Given the description of an element on the screen output the (x, y) to click on. 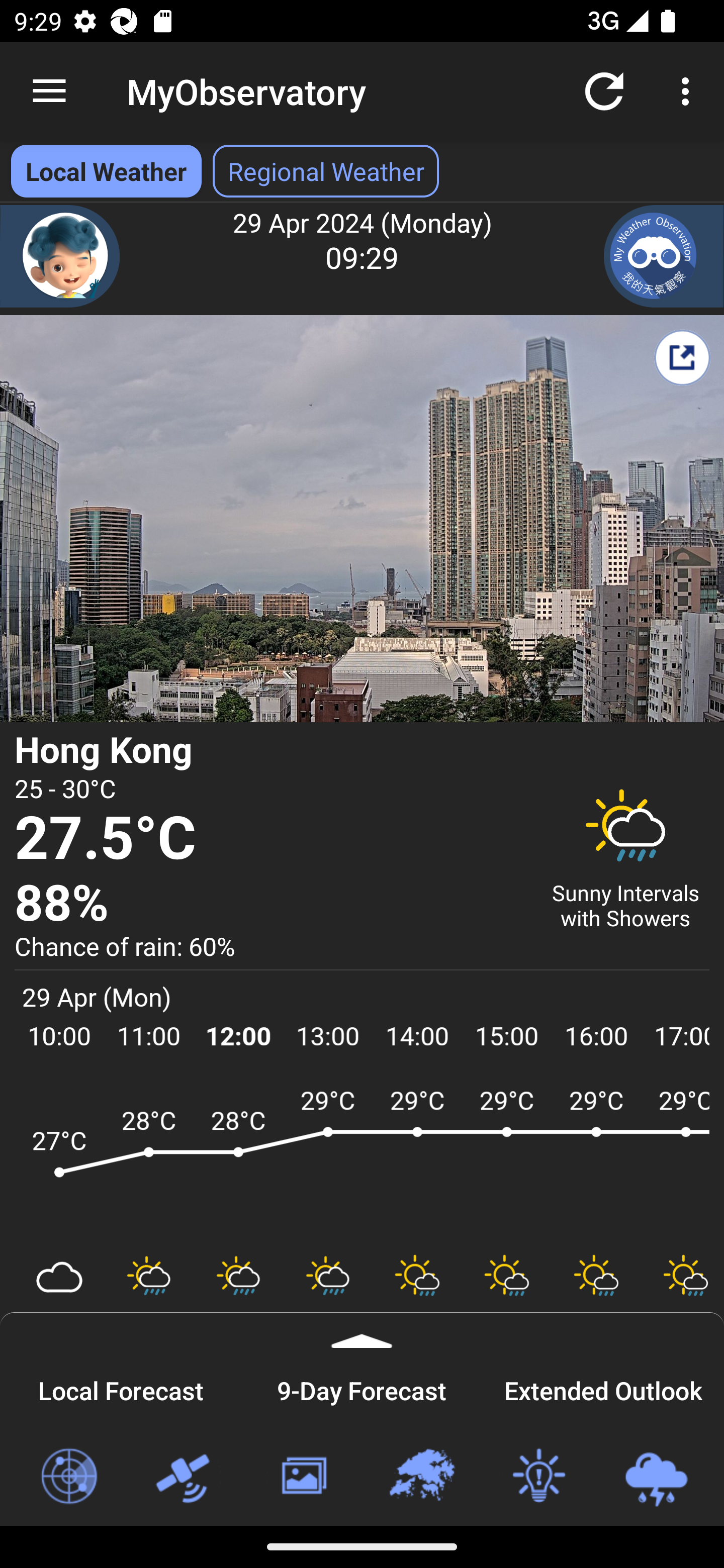
Navigate up (49, 91)
Refresh (604, 90)
More options (688, 90)
Local Weather Local Weather selected (105, 170)
Regional Weather Select Regional Weather (325, 170)
Chatbot (60, 256)
My Weather Observation (663, 256)
Share My Weather Report (681, 357)
27.5°C Temperature
27.5 degree Celsius (270, 839)
88% Relative Humidity
88 percent (270, 903)
ARWF (361, 1160)
Expand (362, 1330)
Local Forecast (120, 1387)
Extended Outlook (603, 1387)
Radar Images (68, 1476)
Satellite Images (185, 1476)
Weather Photos (302, 1476)
Regional Weather (420, 1476)
Weather Tips (537, 1476)
Loc-based Rain & Lightning Forecast (655, 1476)
